Given the description of an element on the screen output the (x, y) to click on. 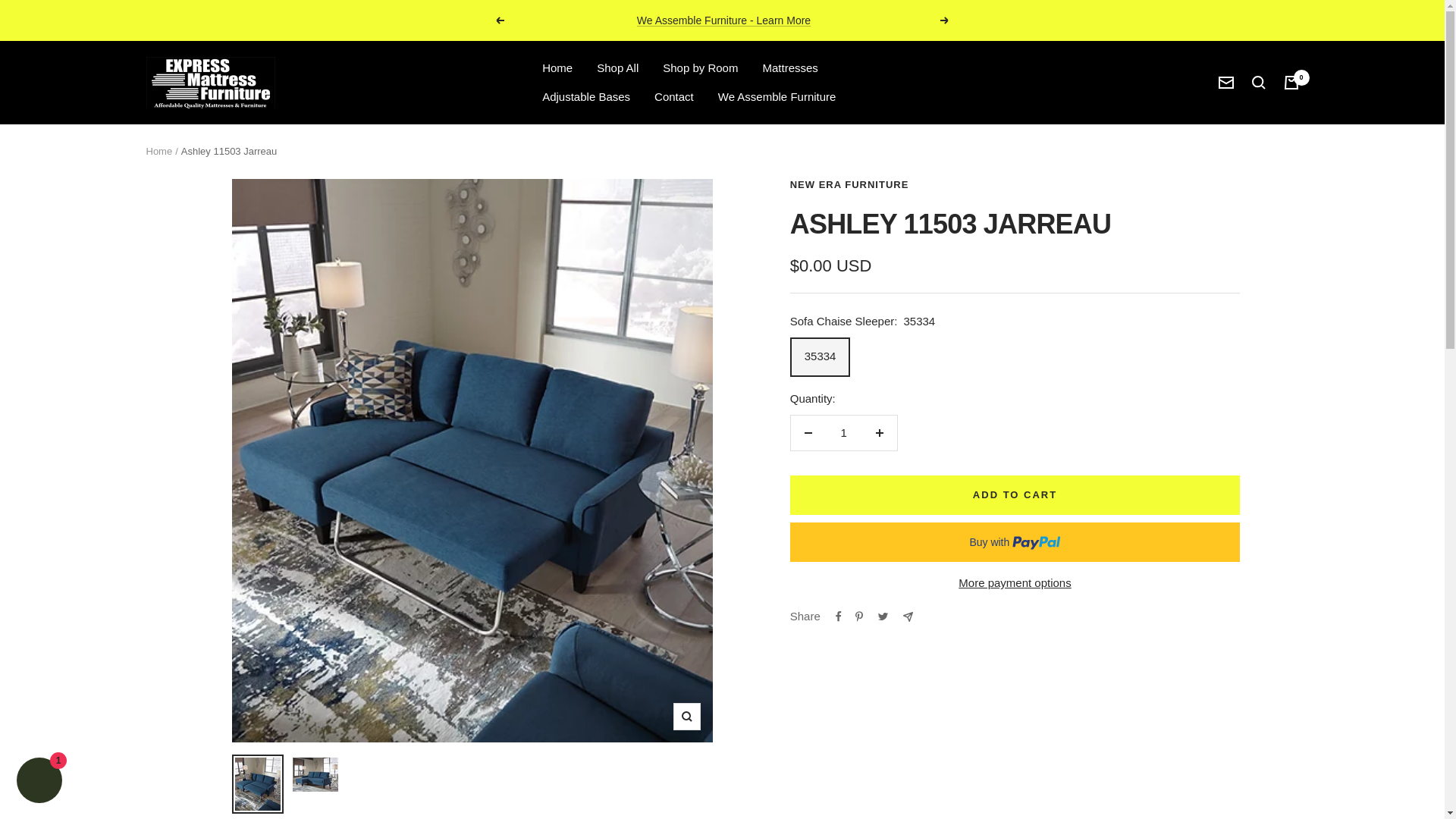
Home (556, 67)
Contact (673, 96)
Next (944, 20)
Increase quantity (878, 432)
Home (158, 151)
Adjustable Bases (585, 96)
Decrease quantity (807, 432)
We Assemble Furniture (776, 96)
Shop by Room (700, 67)
1 (843, 432)
ADD TO CART (1015, 495)
We Assemble Furniture - Learn More (723, 20)
Previous (499, 20)
0 (1291, 82)
